Given the description of an element on the screen output the (x, y) to click on. 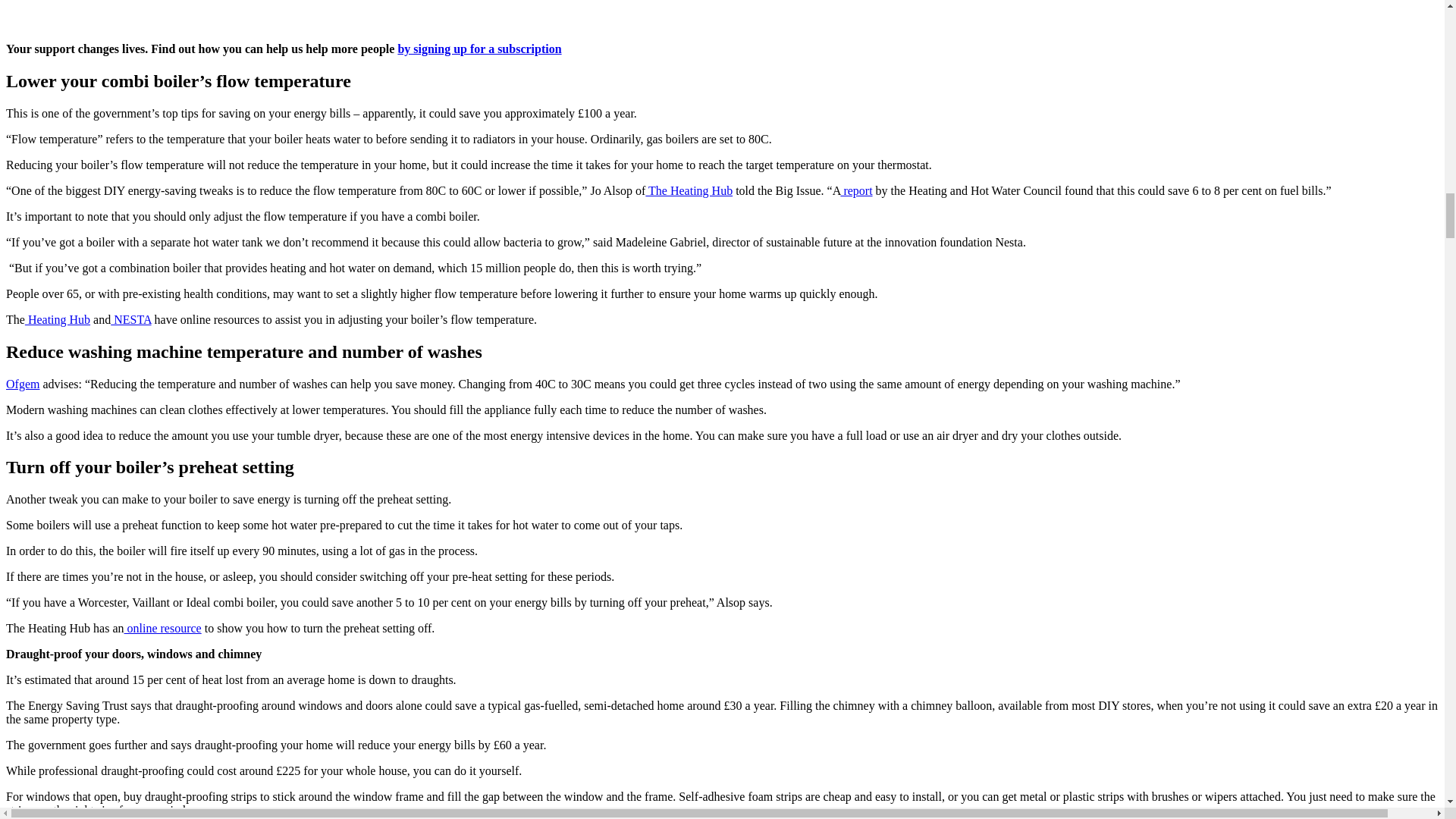
The Heating Hub (688, 190)
Ofgem (22, 383)
report (856, 190)
by signing up for a subscription (478, 48)
Heating Hub (57, 318)
NESTA (130, 318)
online resource (162, 627)
